Given the description of an element on the screen output the (x, y) to click on. 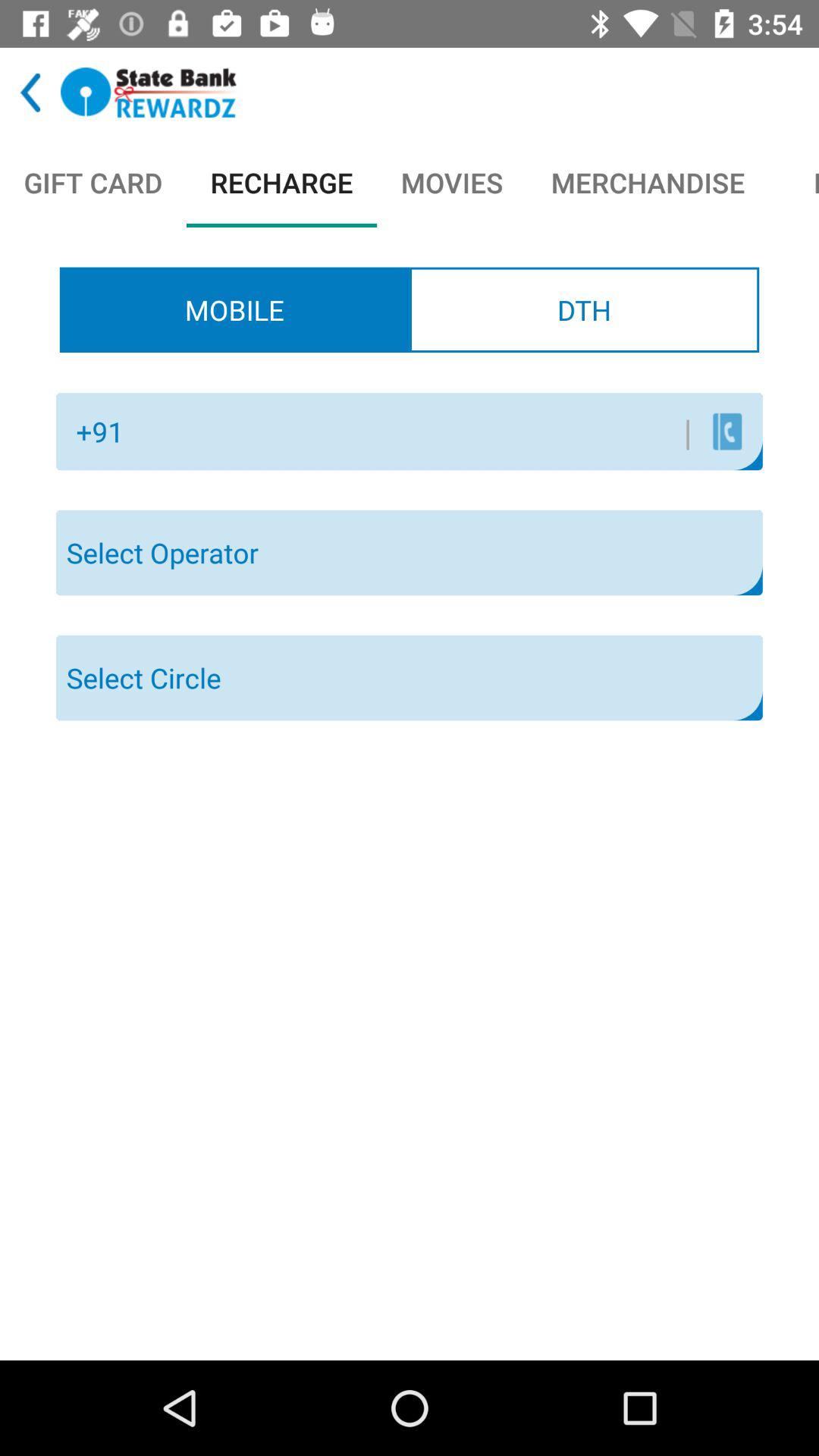
turn on the mobile radio button (234, 309)
